Given the description of an element on the screen output the (x, y) to click on. 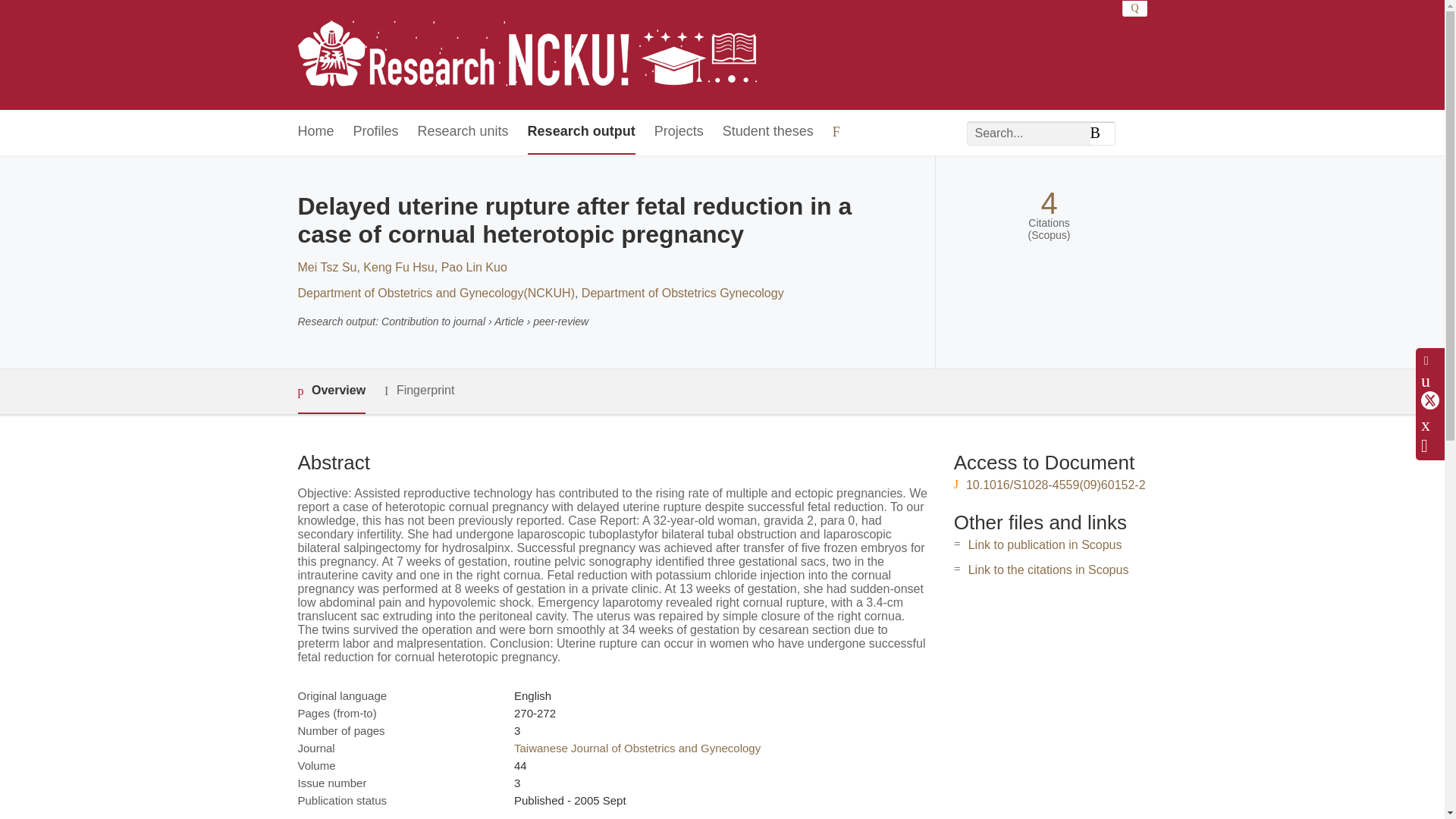
Profiles (375, 131)
Mei Tsz Su (326, 267)
Overview (331, 391)
Taiwanese Journal of Obstetrics and Gynecology (636, 748)
Keng Fu Hsu (397, 267)
Student theses (767, 131)
Link to publication in Scopus (1045, 544)
National Cheng Kung University Home (526, 54)
Fingerprint (419, 390)
Pao Lin Kuo (473, 267)
